Given the description of an element on the screen output the (x, y) to click on. 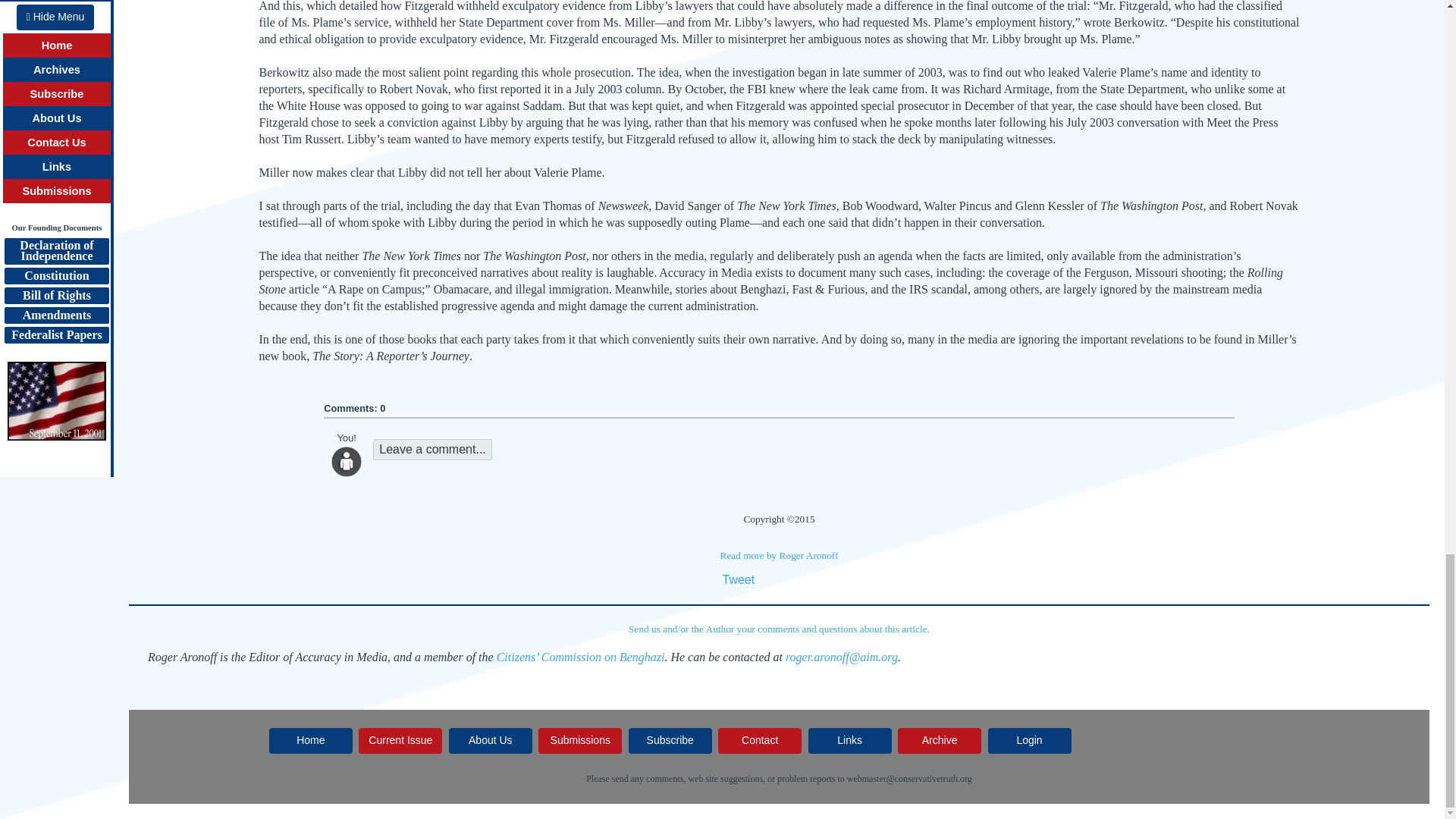
Contact (759, 740)
Submissions (579, 740)
Links (849, 740)
Subscribe (669, 740)
Current Issue (400, 740)
Home (310, 740)
About Us (490, 740)
Tweet (738, 579)
Read more by Roger Aronoff (779, 555)
Leave a comment... (432, 449)
Archive (939, 740)
Login (1029, 740)
